Given the description of an element on the screen output the (x, y) to click on. 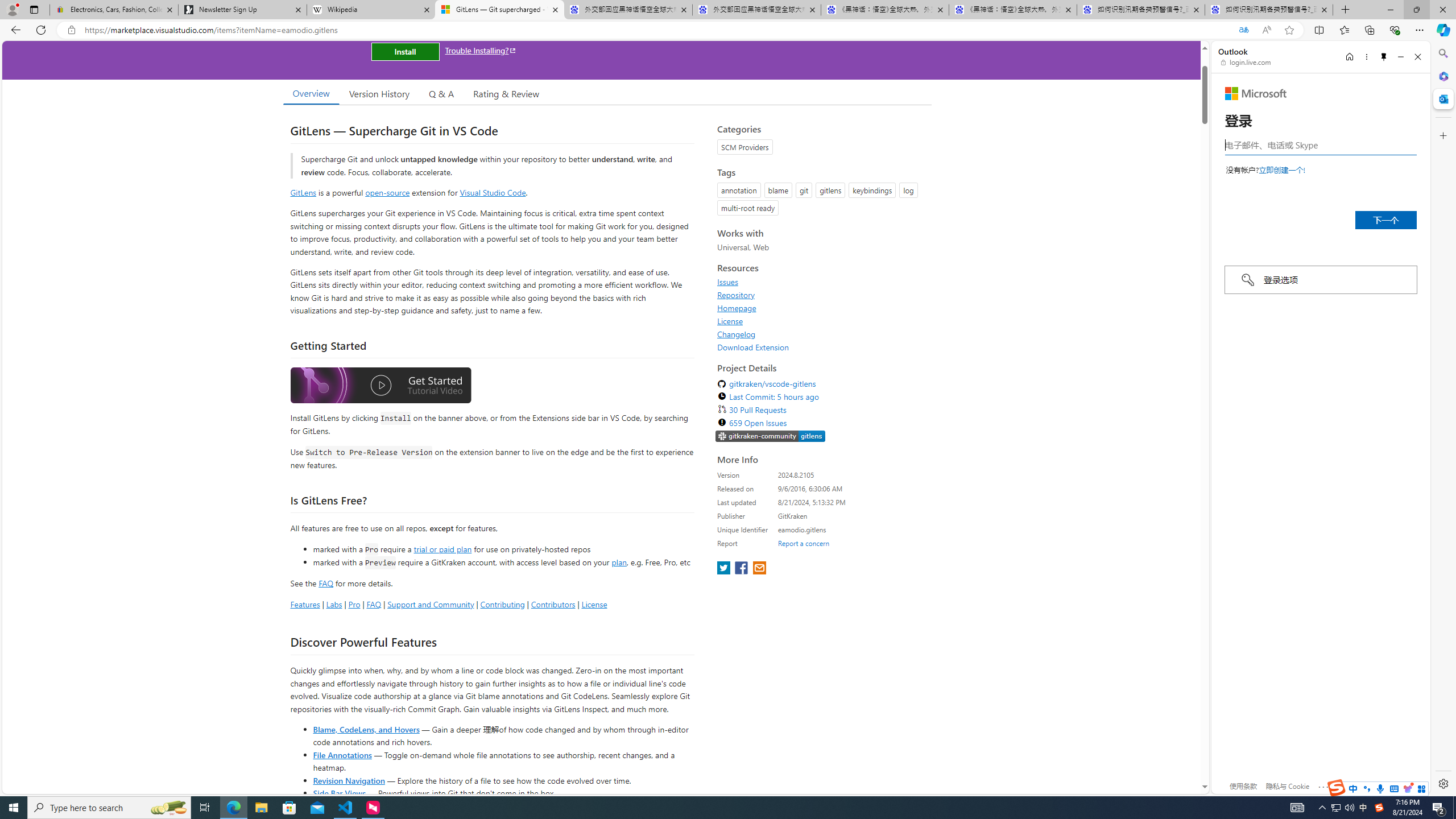
https://slack.gitkraken.com// (769, 436)
Translated (1243, 29)
